Given the description of an element on the screen output the (x, y) to click on. 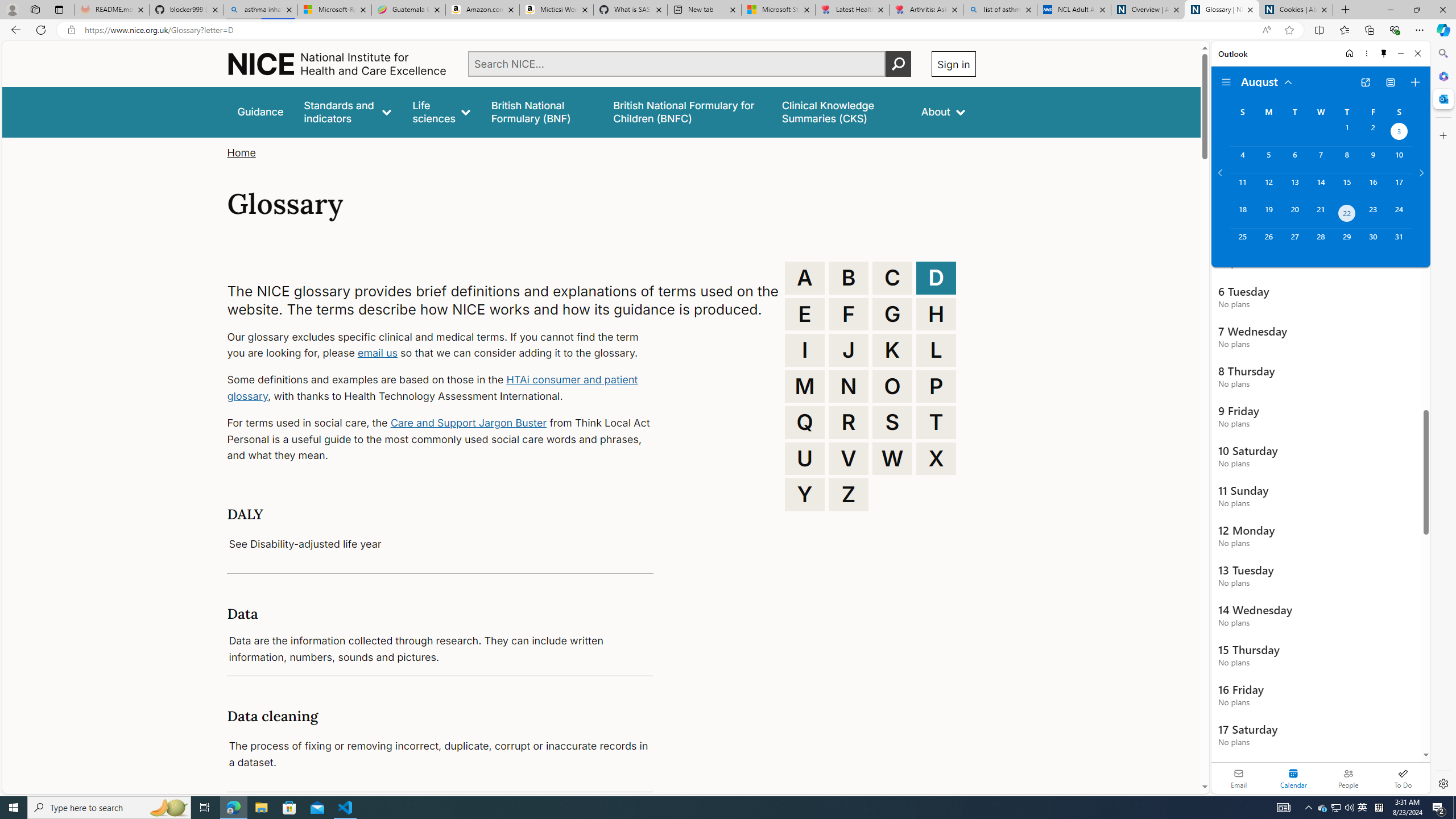
M (804, 385)
Close Customize pane (1442, 135)
Microsoft 365 (1442, 76)
Saturday, August 10, 2024.  (1399, 159)
Split screen (1318, 29)
R (848, 422)
M (804, 385)
Life sciences (440, 111)
Microsoft-Report a Concern to Bing (334, 9)
View site information (70, 29)
